Given the description of an element on the screen output the (x, y) to click on. 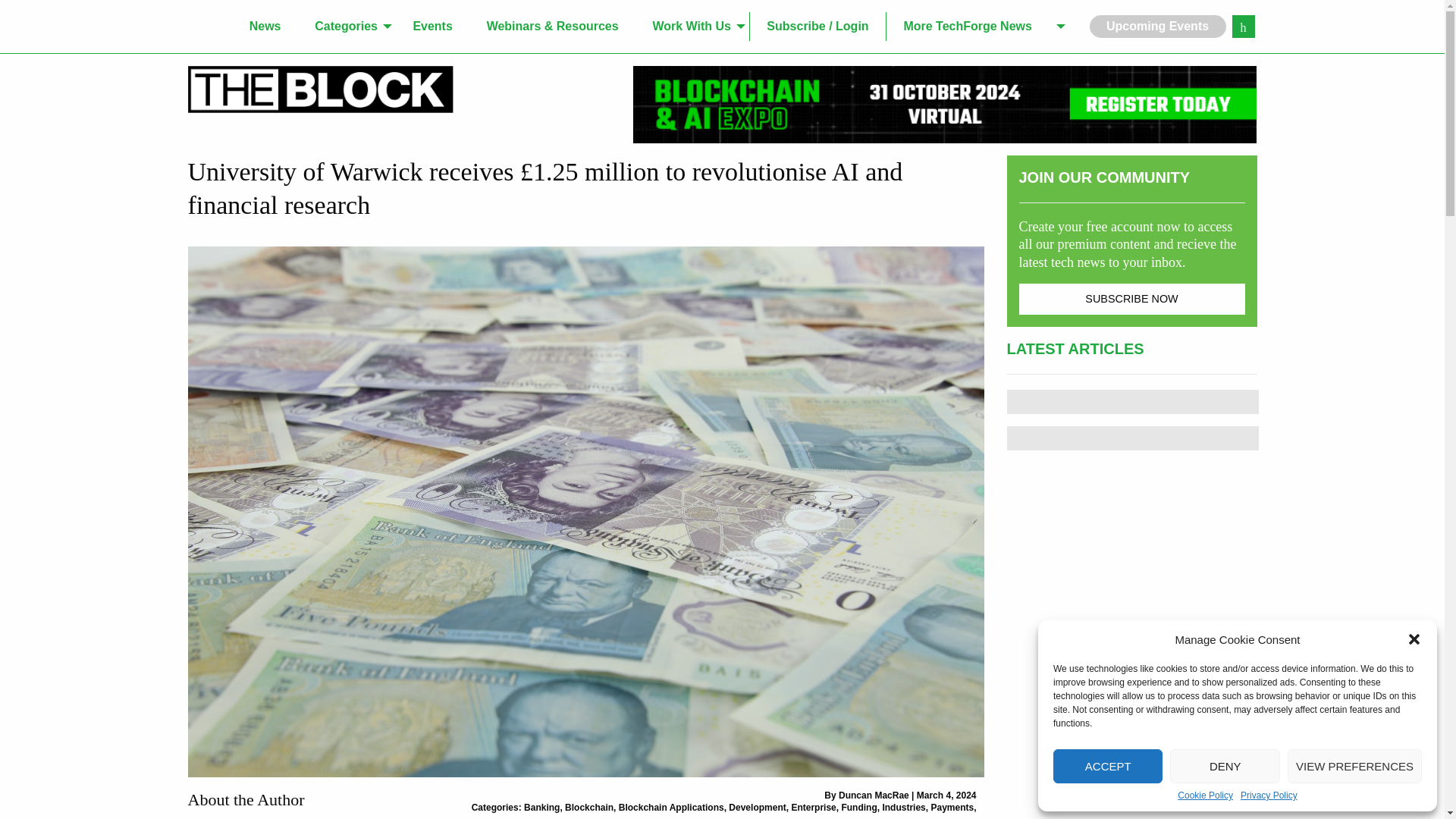
GO (1242, 26)
VIEW PREFERENCES (1354, 765)
News (264, 26)
Cookie Policy (1205, 795)
Privacy Policy (1268, 795)
Categories (347, 26)
Search for: (1242, 26)
Posts by Duncan MacRae (873, 795)
